Given the description of an element on the screen output the (x, y) to click on. 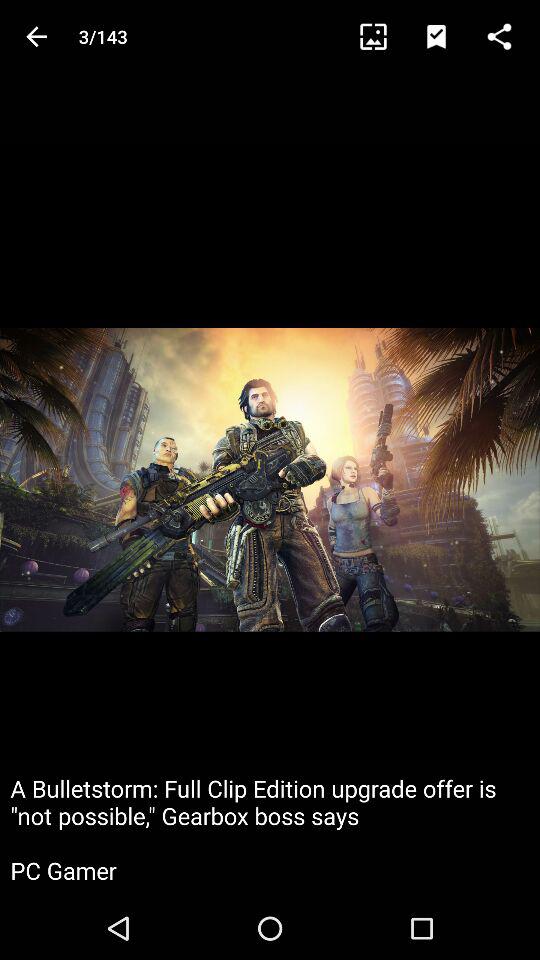
press the icon above a bulletstorm full icon (444, 36)
